Given the description of an element on the screen output the (x, y) to click on. 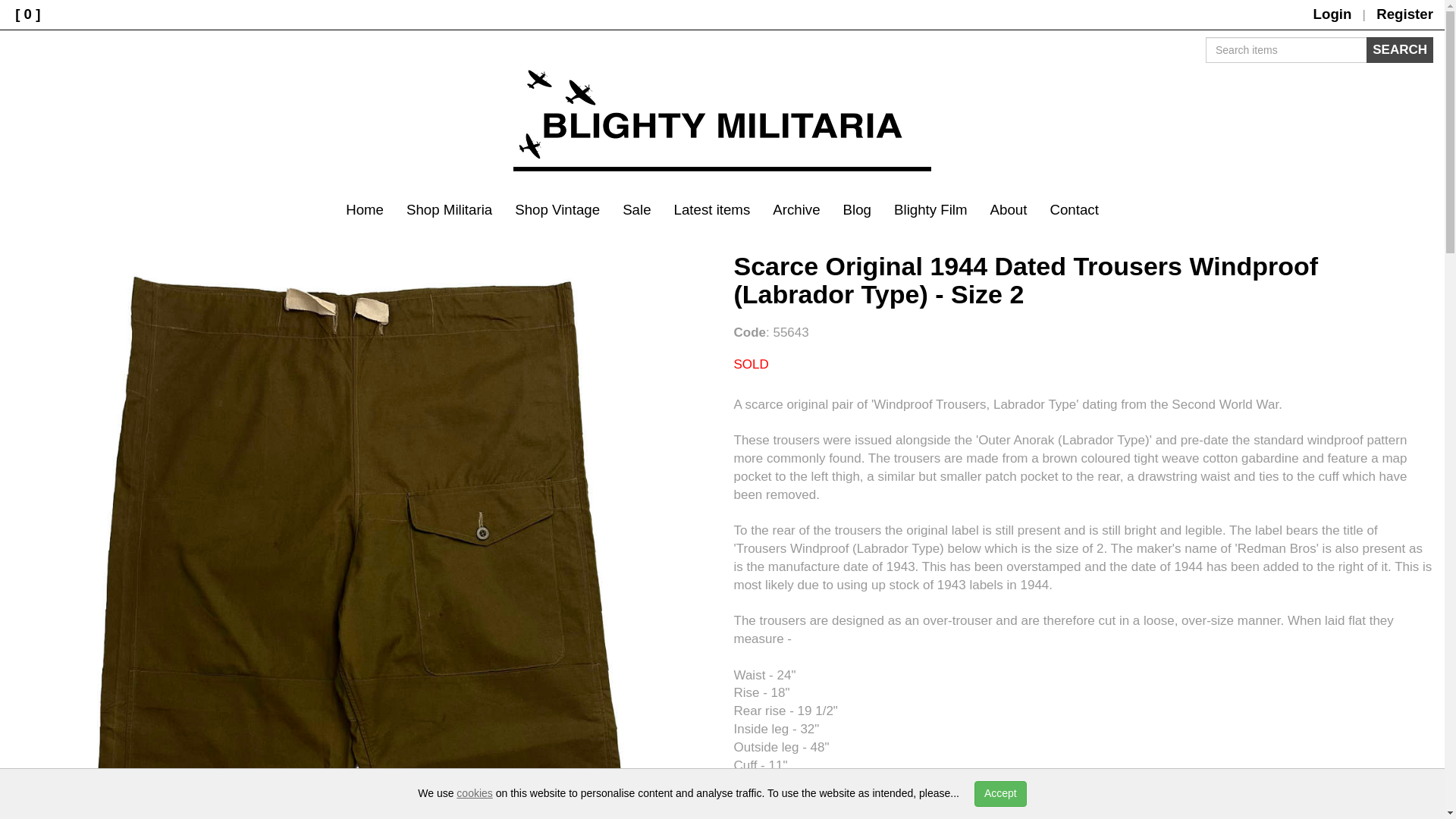
About (1008, 209)
Blog (856, 209)
Contact (1073, 209)
Shop Vintage (557, 209)
Shop Militaria (448, 209)
Accept (1000, 793)
Archive (796, 209)
Sale (636, 209)
Latest items (711, 209)
Register (1403, 13)
Blighty Film (930, 209)
Login (1332, 13)
Home (364, 209)
Blighty Militaria (722, 121)
SEARCH (1399, 49)
